Given the description of an element on the screen output the (x, y) to click on. 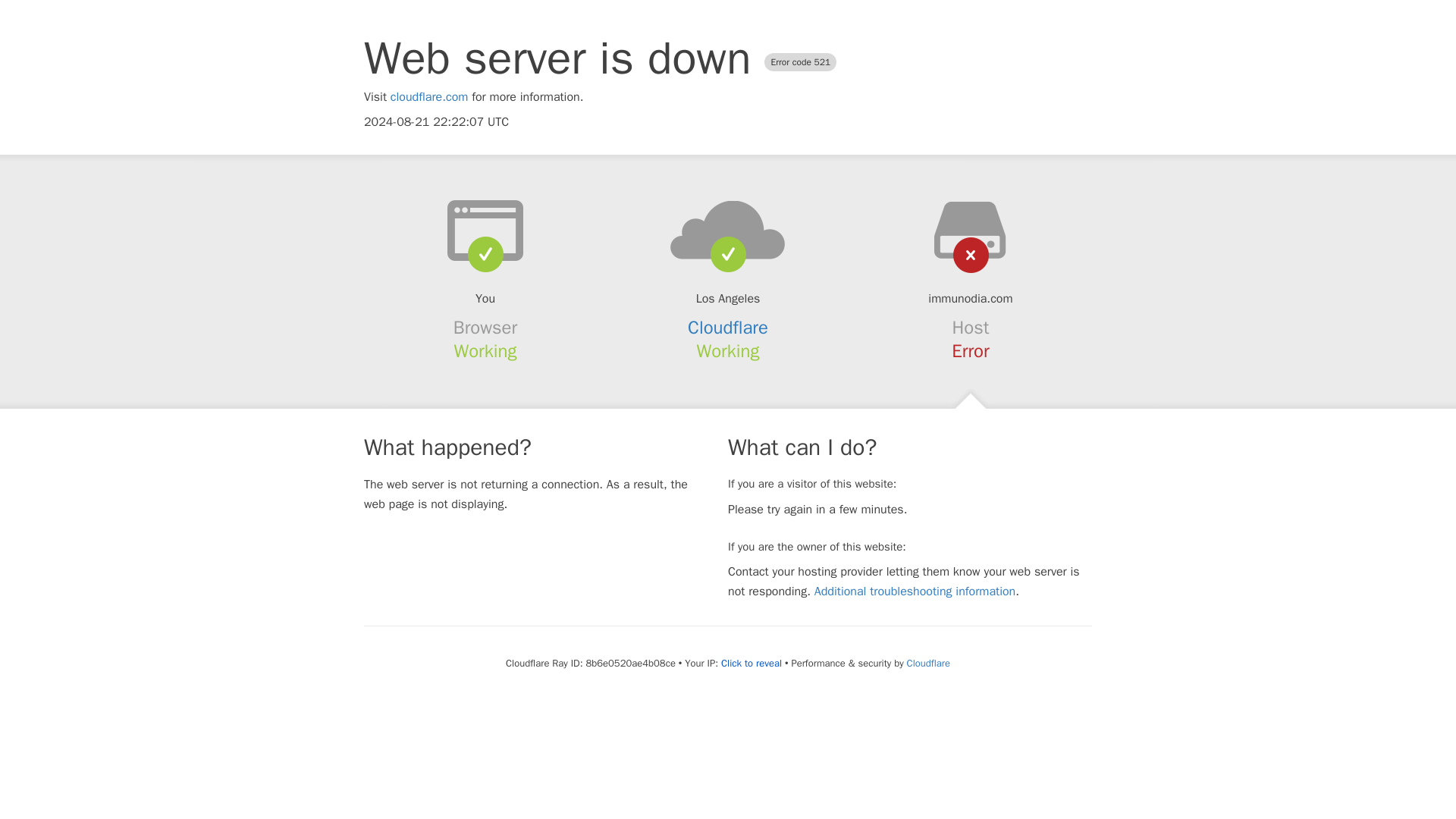
Click to reveal (750, 663)
Additional troubleshooting information (913, 590)
Cloudflare (727, 327)
cloudflare.com (429, 96)
Cloudflare (928, 662)
